Given the description of an element on the screen output the (x, y) to click on. 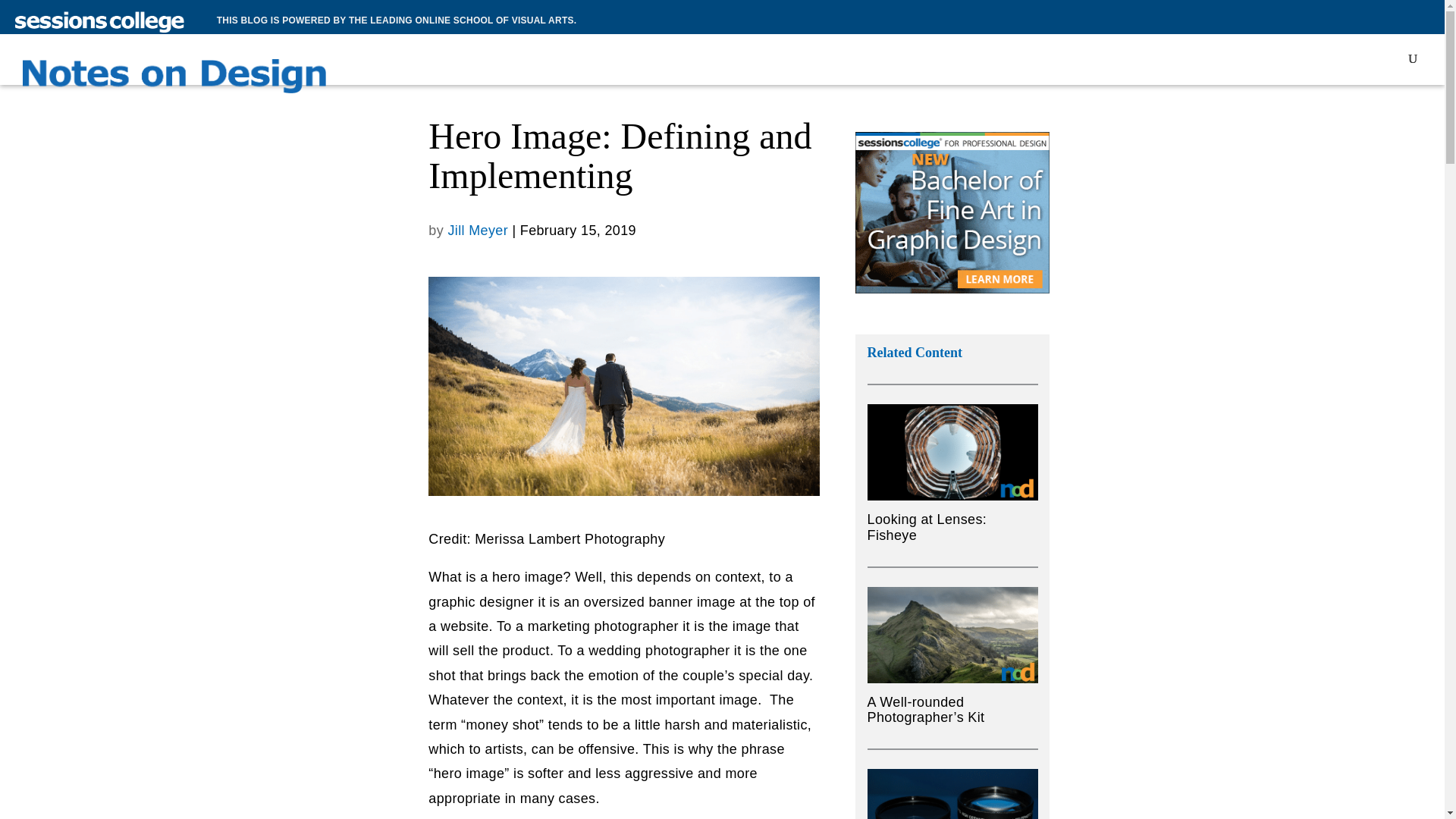
home (174, 80)
